Given the description of an element on the screen output the (x, y) to click on. 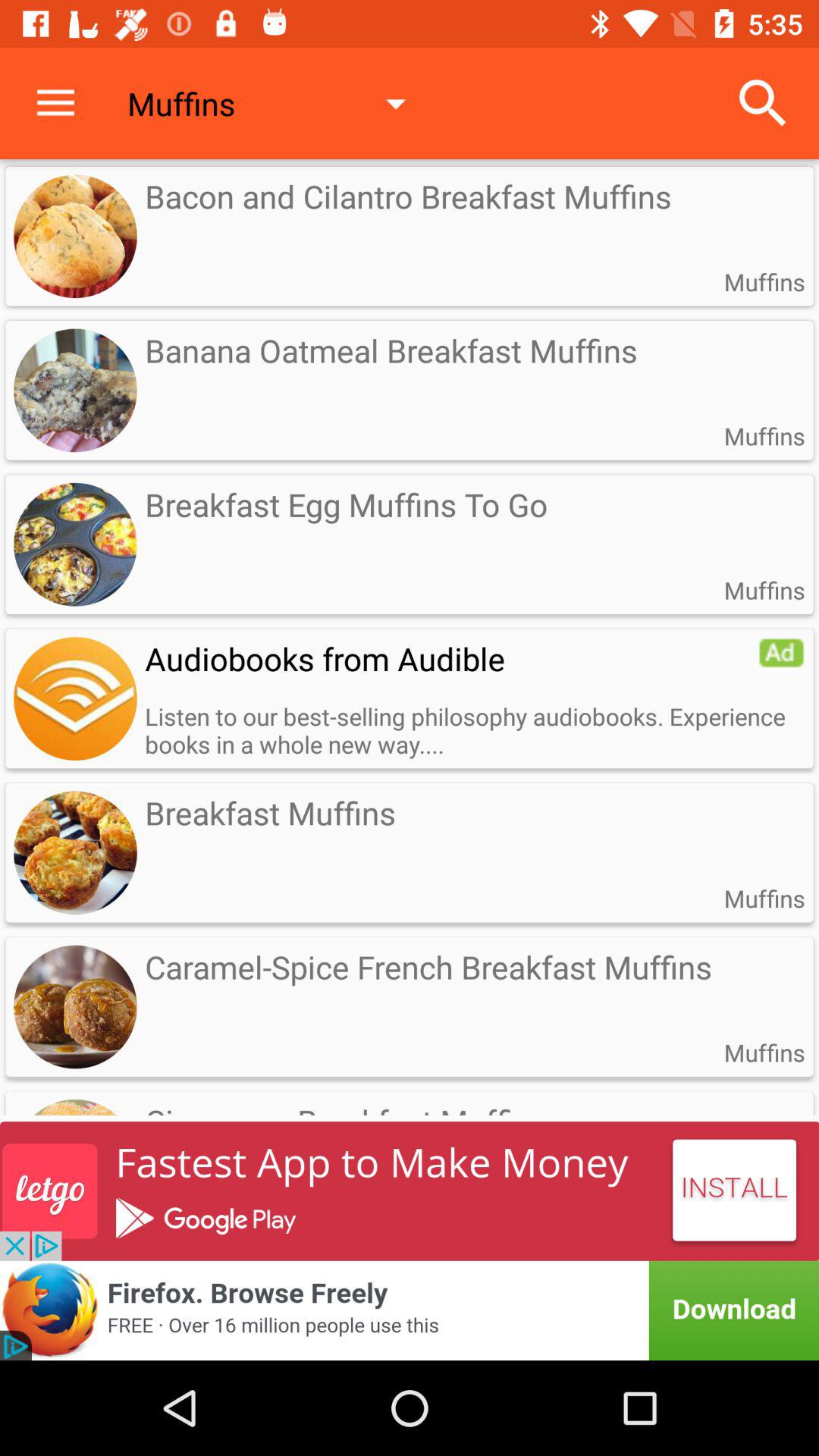
lower advertisement bar (409, 1310)
